Given the description of an element on the screen output the (x, y) to click on. 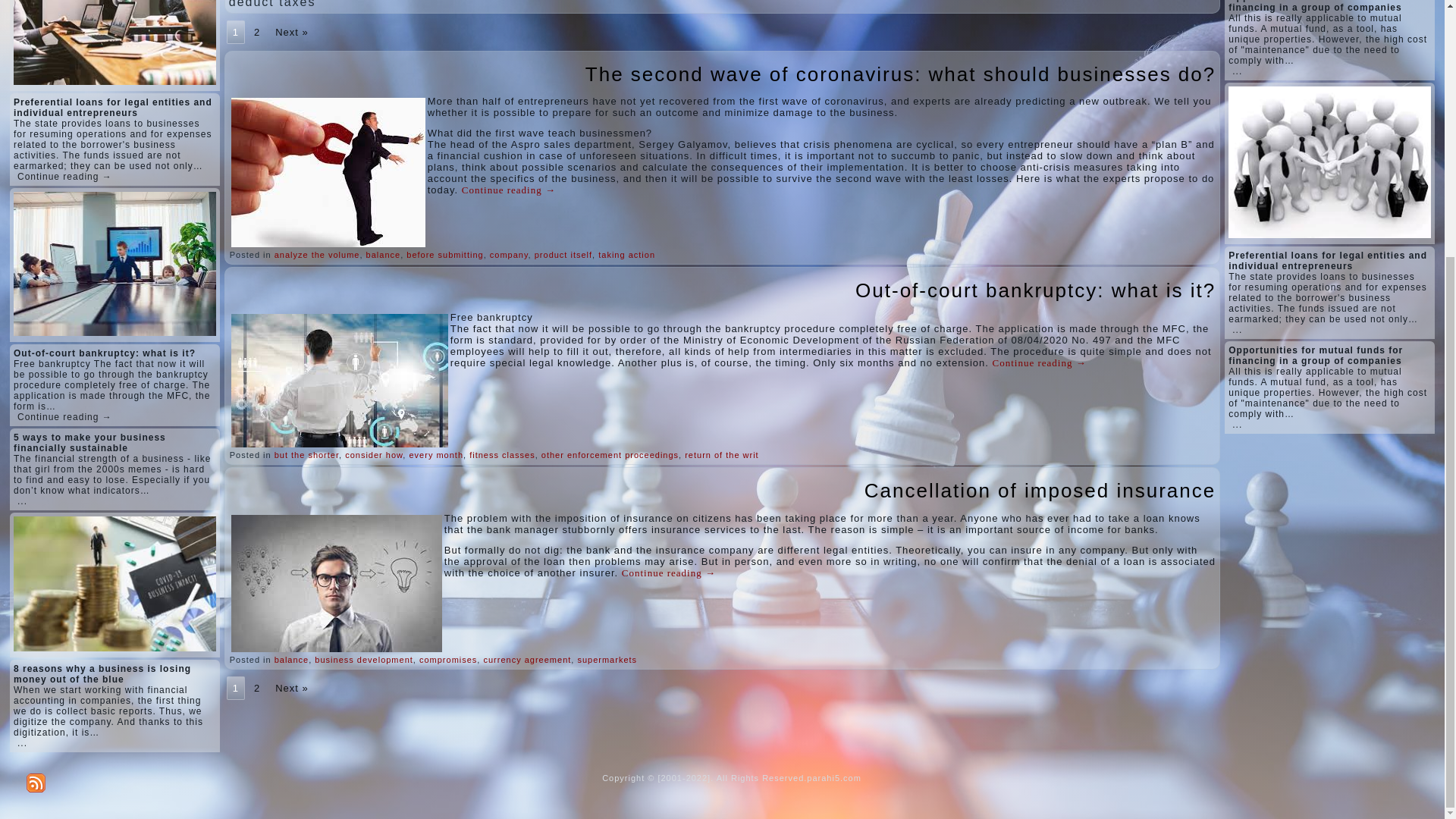
Cancellation of imposed insurance (1039, 490)
The second wave of coronavirus: what should businesses do? (900, 74)
before submitting (444, 254)
Out-of-court bankruptcy: what is it? (1035, 290)
analyze the volume (317, 254)
... (22, 742)
other enforcement proceedings (609, 454)
The second wave of coronavirus: what should businesses do? (900, 74)
balance (383, 254)
but the shorter (307, 454)
